Given the description of an element on the screen output the (x, y) to click on. 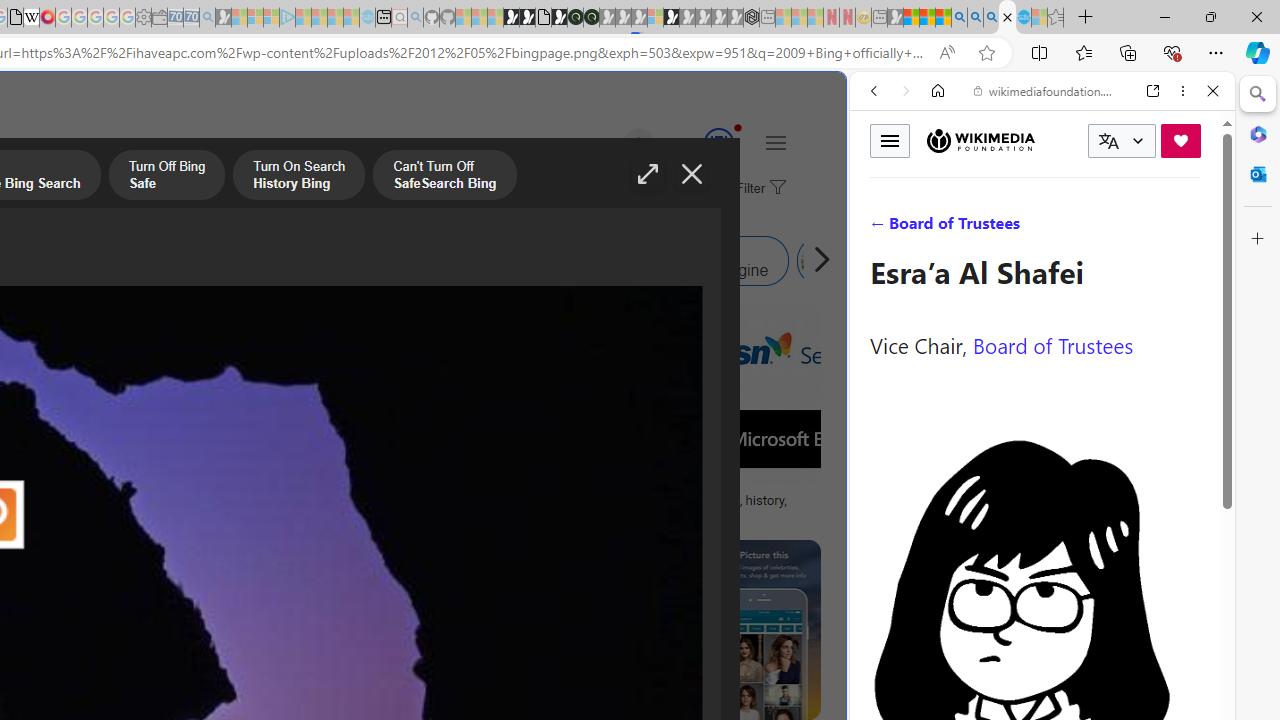
Bing Logo, symbol, meaning, history, PNG, brand (695, 508)
AutomationID: serp_medal_svg (718, 142)
Favorites - Sleeping (1055, 17)
WEB   (882, 228)
Cheap Car Rentals - Save70.com - Sleeping (191, 17)
